Given the description of an element on the screen output the (x, y) to click on. 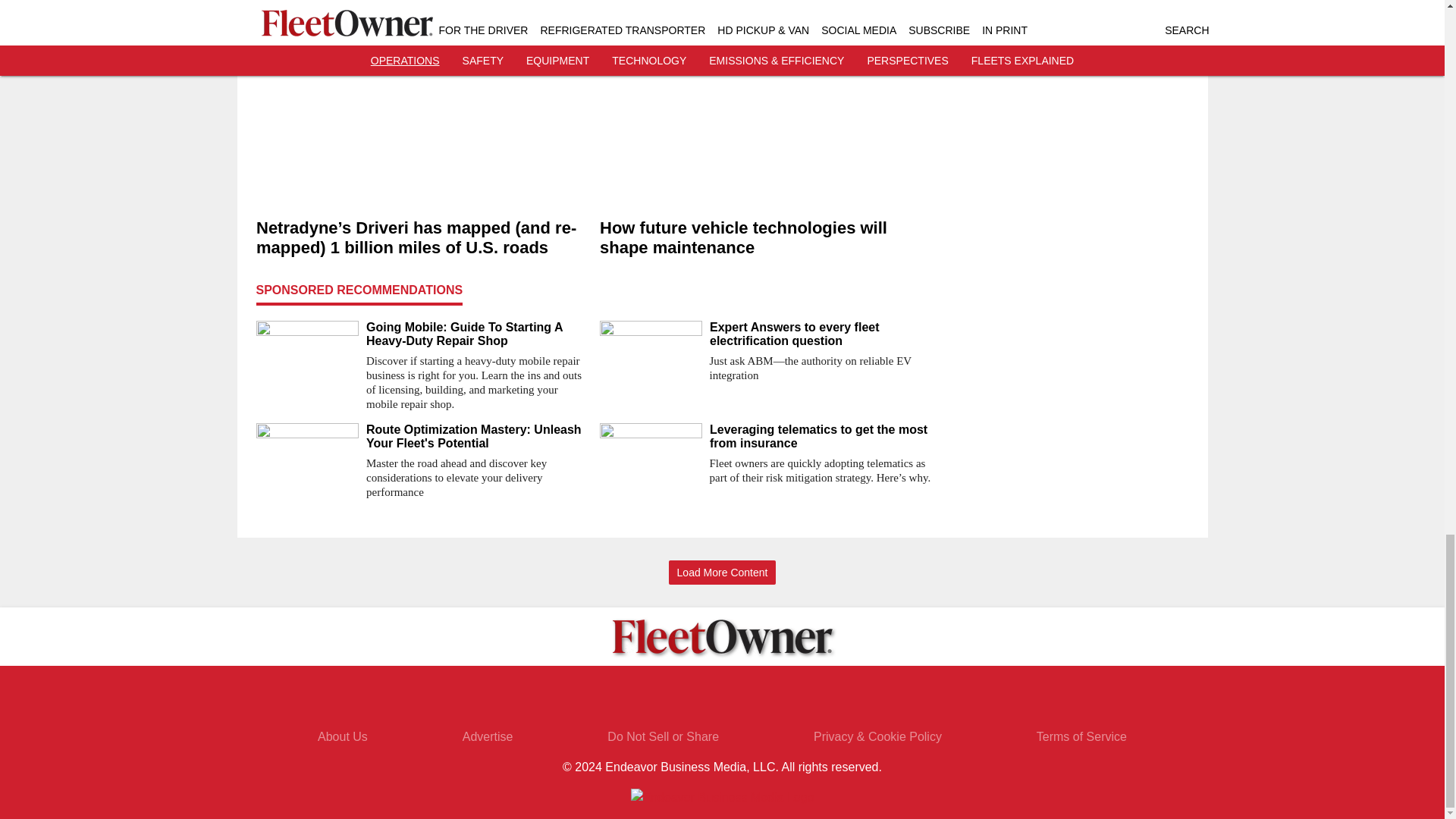
Going Mobile: Guide To Starting A Heavy-Duty Repair Shop (476, 334)
Expert Answers to every fleet electrification question (820, 334)
Leveraging telematics to get the most from insurance (820, 436)
How future vehicle technologies will shape maintenance (764, 237)
Route Optimization Mastery: Unleash Your Fleet's Potential (476, 436)
